Given the description of an element on the screen output the (x, y) to click on. 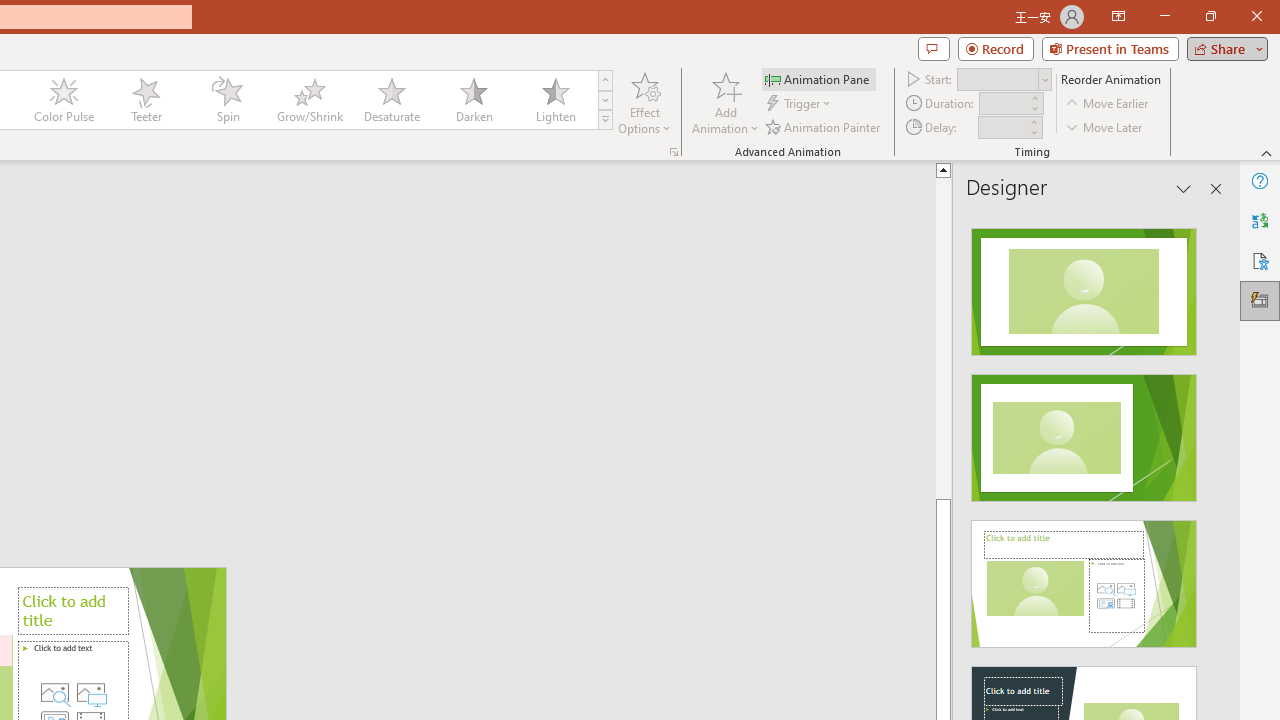
Effect Options (644, 102)
Design Idea (1083, 577)
Color Pulse (63, 100)
Teeter (145, 100)
Move Later (1105, 126)
Animation Pane (818, 78)
Grow/Shrink (309, 100)
Less (1033, 132)
More Options... (673, 151)
Recommended Design: Design Idea (1083, 286)
Stock Images (54, 692)
